Given the description of an element on the screen output the (x, y) to click on. 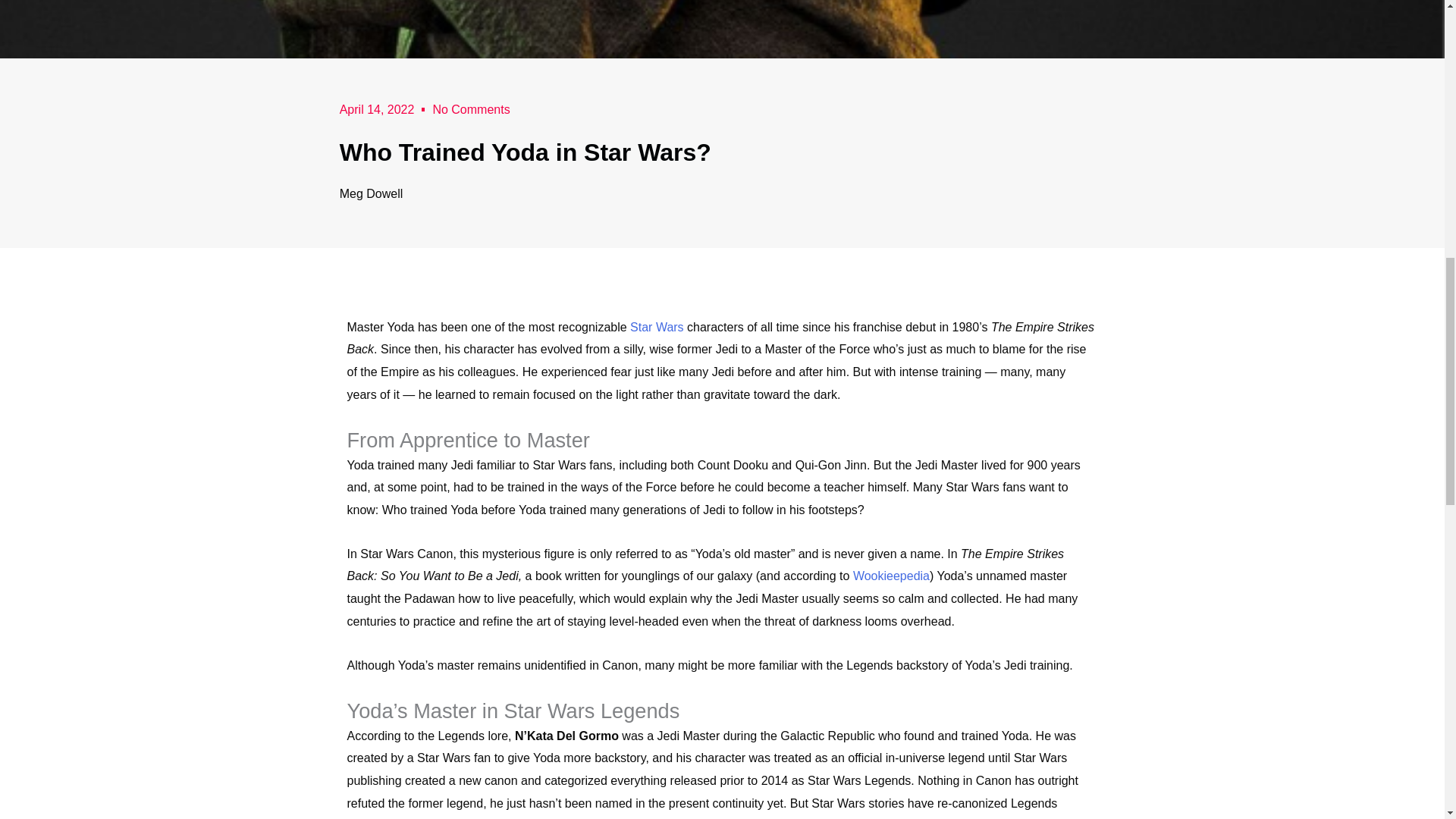
Wookieepedia (891, 575)
Star Wars (657, 326)
No Comments (470, 109)
April 14, 2022 (376, 109)
